Given the description of an element on the screen output the (x, y) to click on. 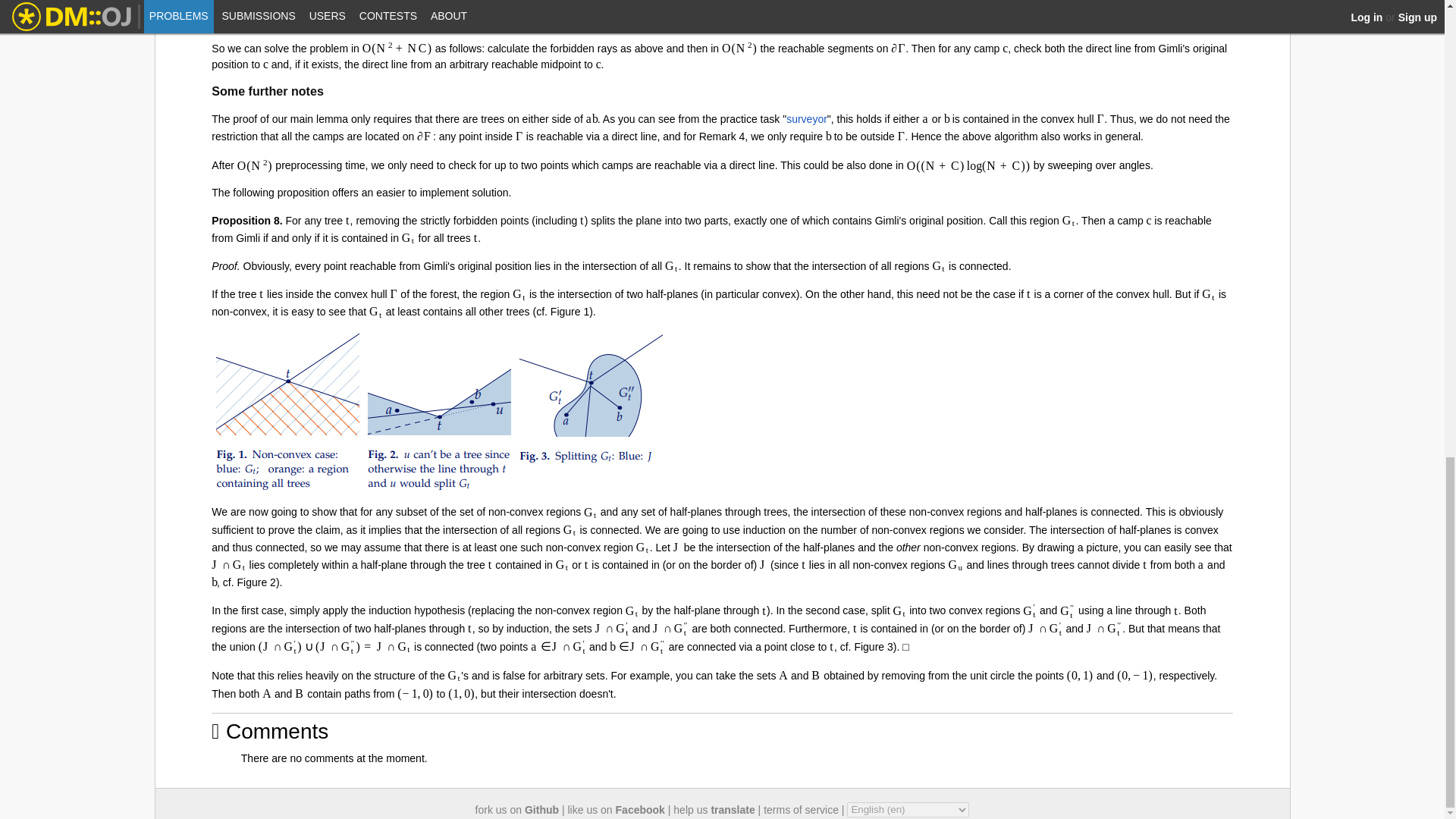
like us on Facebook (615, 808)
surveyor (806, 119)
help us translate (713, 808)
fork us on Github (517, 808)
terms of service (800, 808)
